Given the description of an element on the screen output the (x, y) to click on. 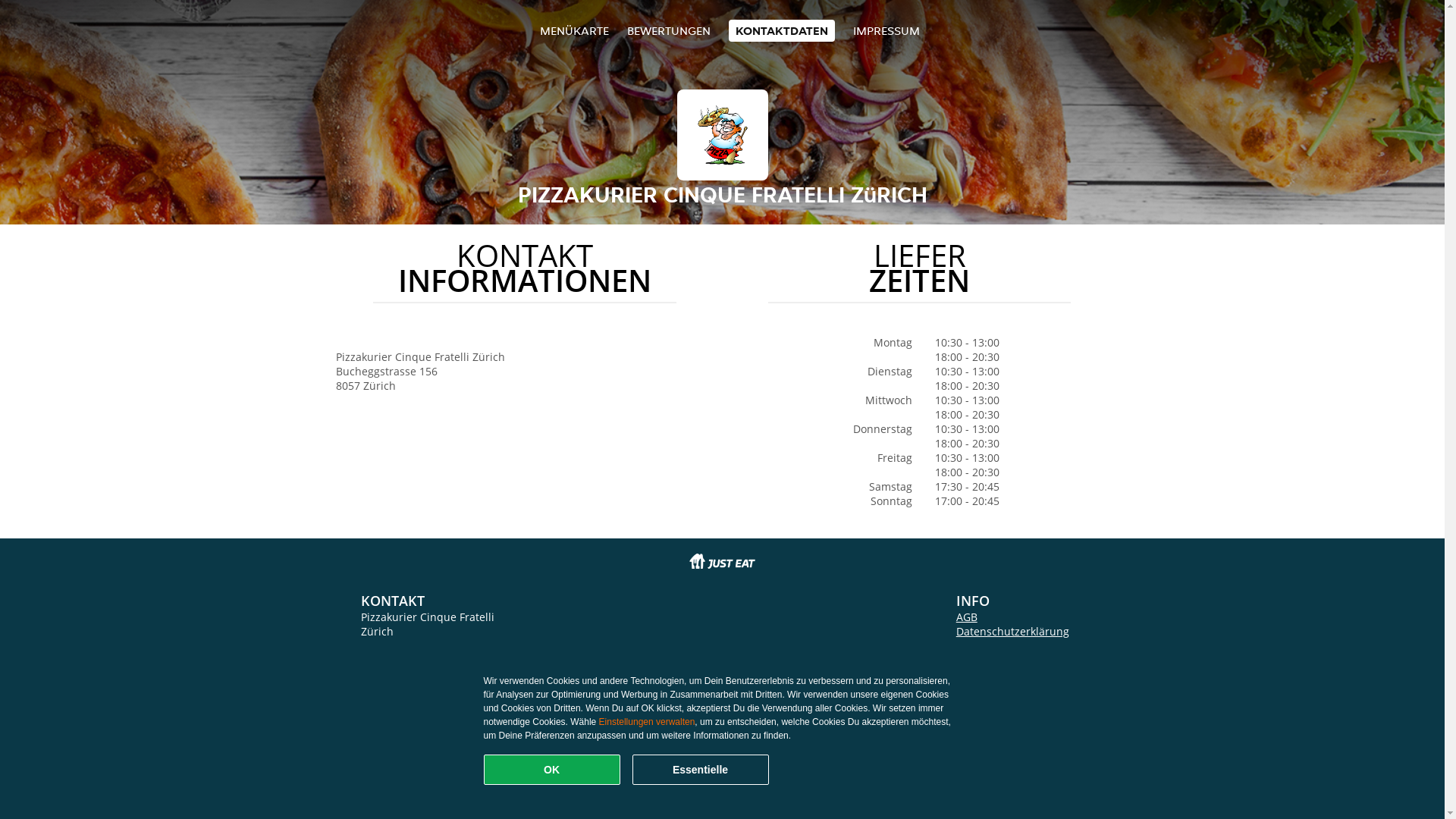
IMPRESSUM Element type: text (886, 30)
BEWERTUNGEN Element type: text (668, 30)
AGB Element type: text (966, 616)
OK Element type: text (551, 769)
KONTAKTDATEN Element type: text (781, 30)
Impressum Element type: text (984, 659)
Einstellungen verwalten Element type: text (647, 721)
Essentielle Element type: text (700, 769)
Verwendung von Cookies Element type: text (1019, 645)
